Given the description of an element on the screen output the (x, y) to click on. 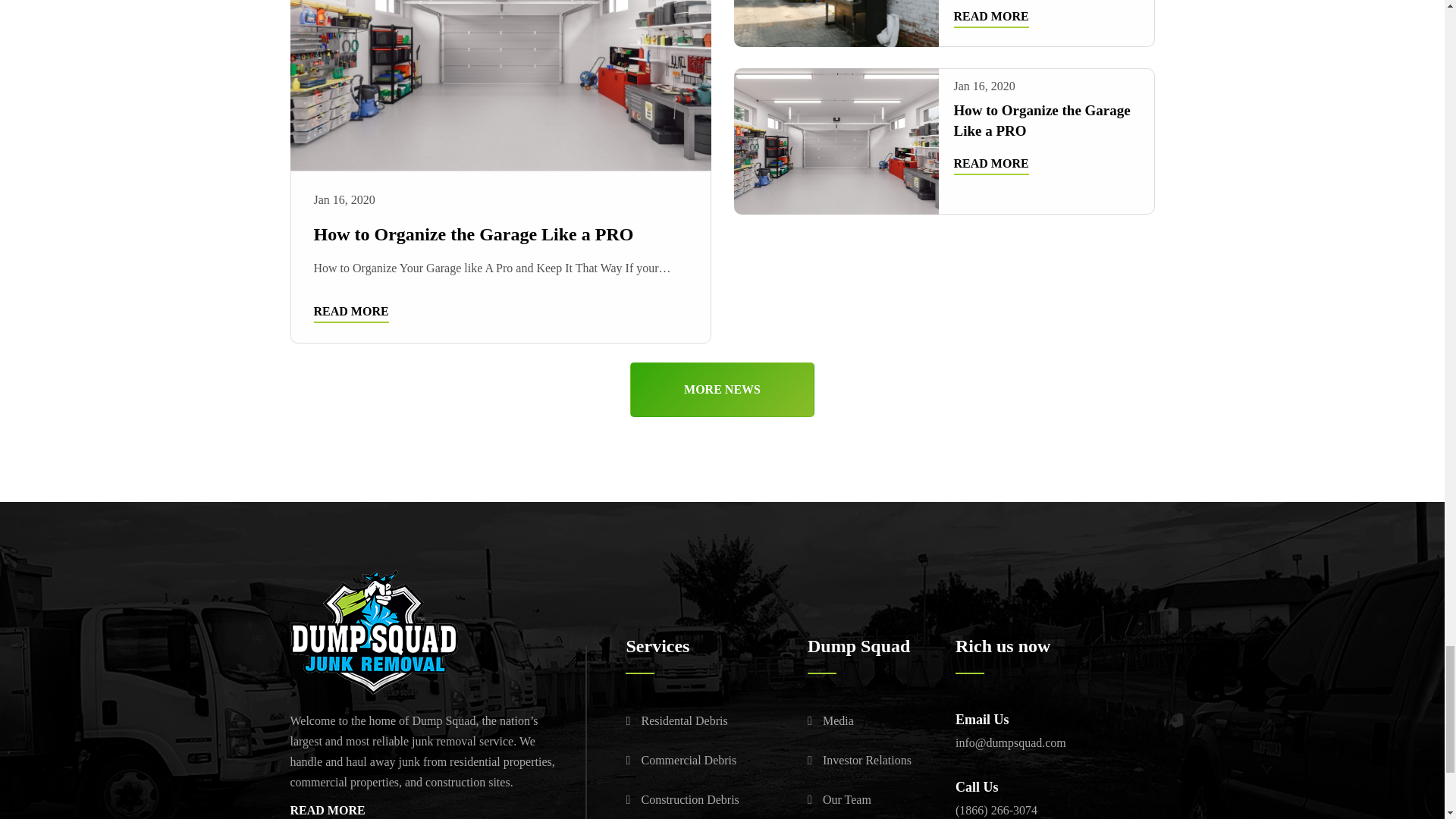
READ MORE (991, 166)
MORE NEWS (721, 389)
READ MORE (351, 313)
READ MORE (991, 18)
